Given the description of an element on the screen output the (x, y) to click on. 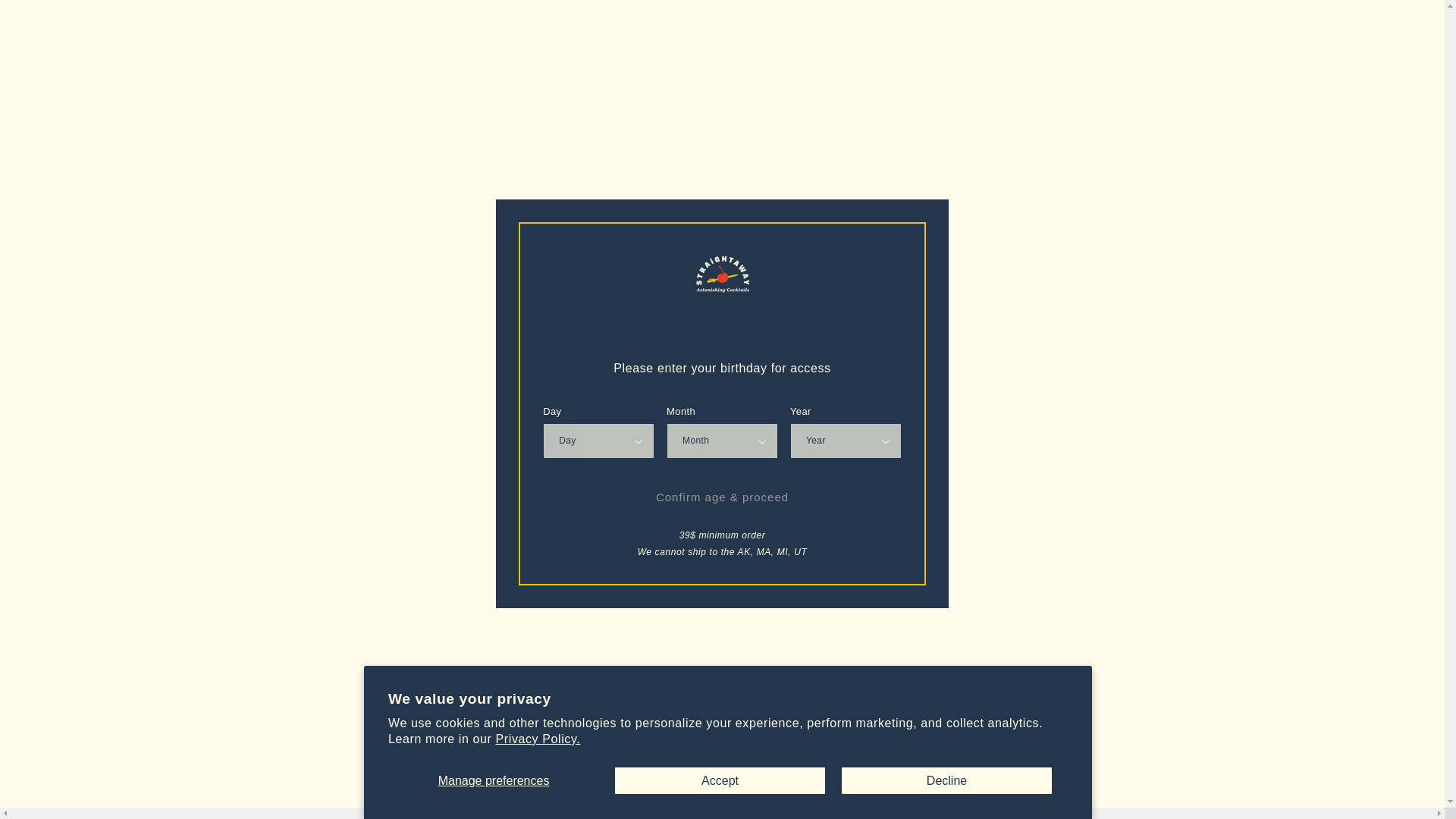
Manage preferences (493, 780)
Accept (719, 780)
Decline (946, 780)
Privacy Policy. (538, 738)
1 (853, 366)
Skip to content (47, 18)
